Given the description of an element on the screen output the (x, y) to click on. 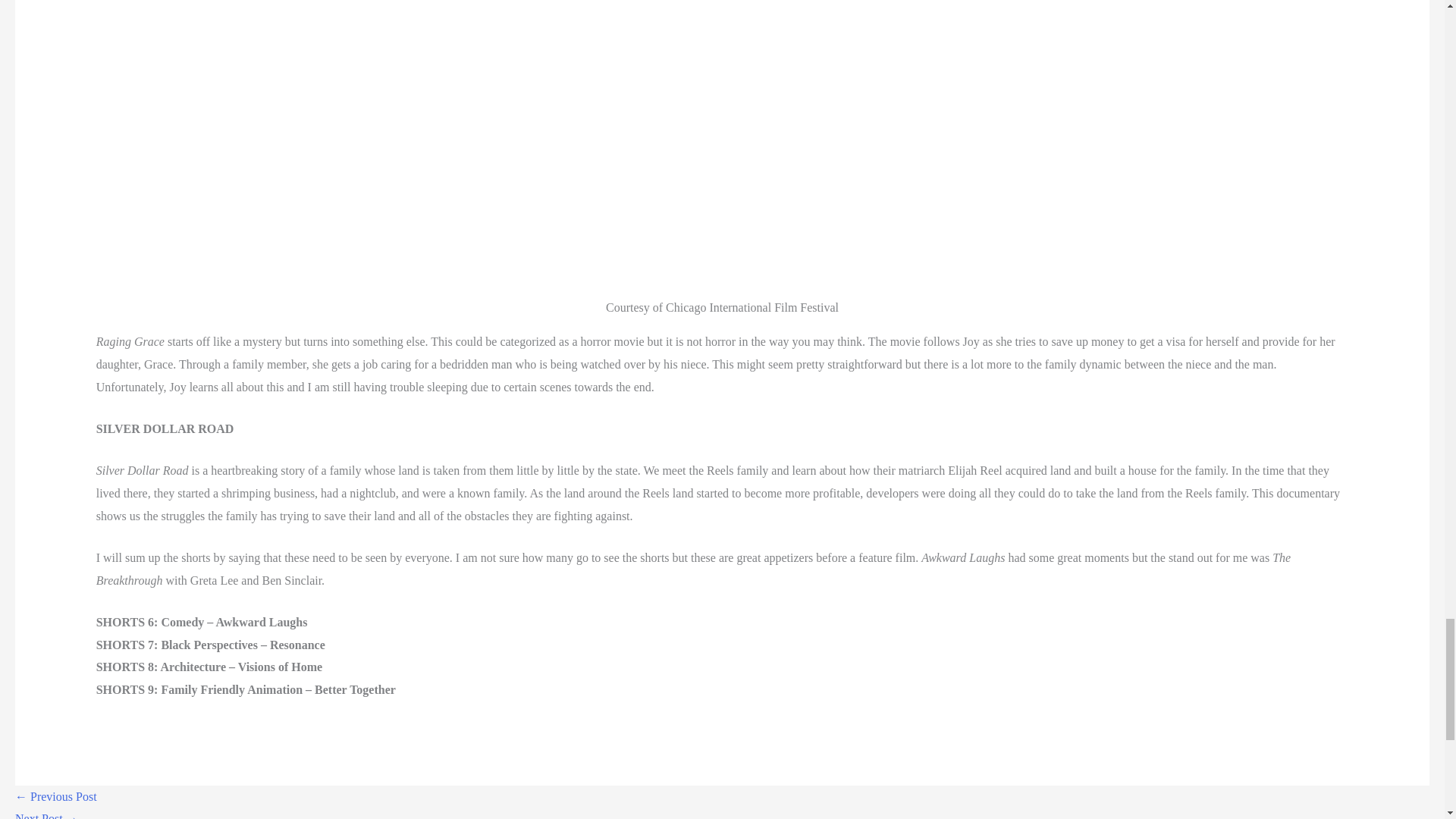
Trolls Band Together Review (55, 796)
Point Break 4K Release (46, 815)
